Given the description of an element on the screen output the (x, y) to click on. 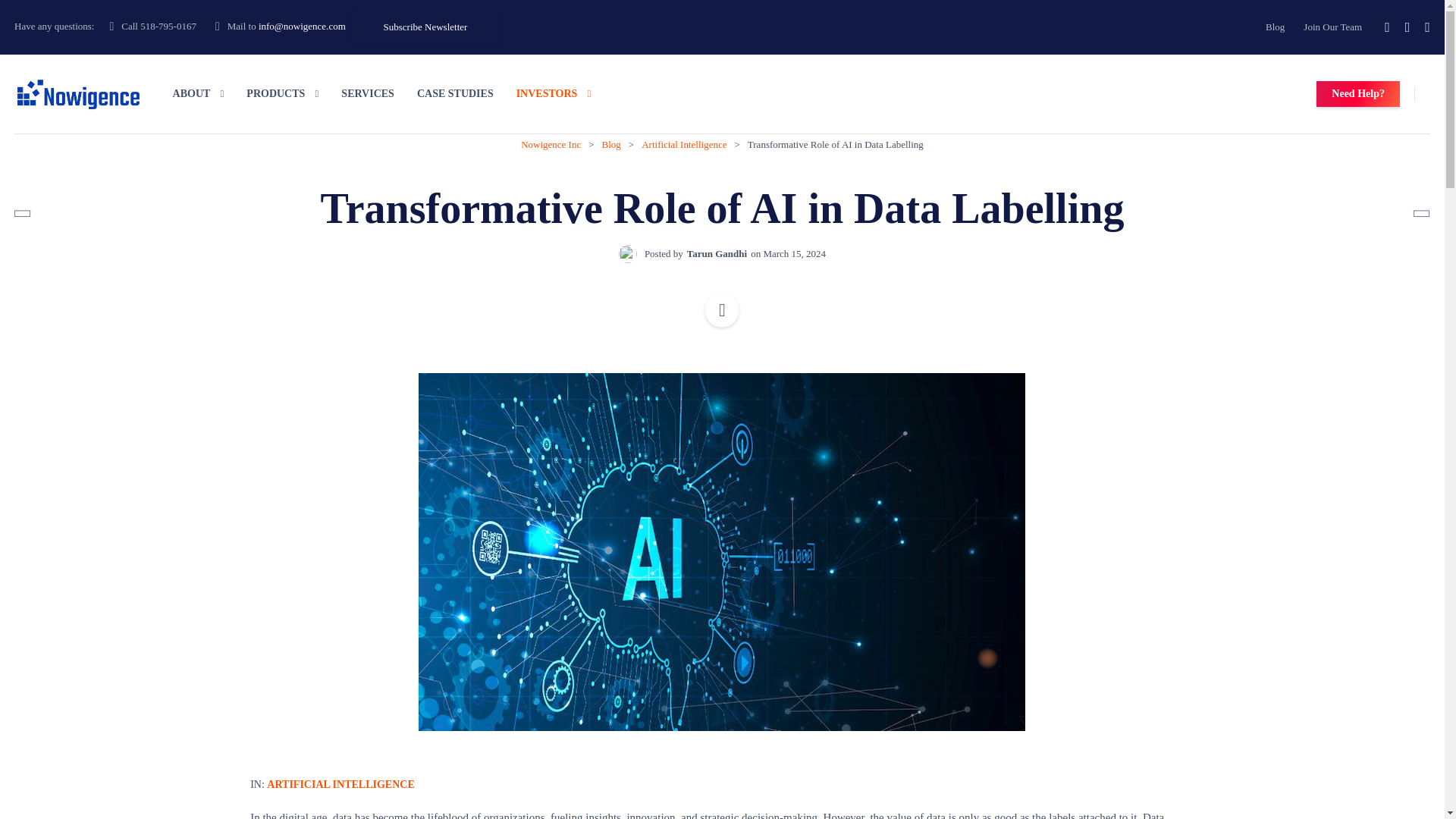
CASE STUDIES (454, 93)
Go to Blog. (611, 143)
Go to the Artificial Intelligence Category archives. (684, 143)
PRODUCTS (282, 93)
Go to Nowigence Inc. (550, 143)
Need Help? (1357, 94)
INVESTORS (553, 94)
Posts by Tarun Gandhi (716, 253)
Join Our Team (1332, 27)
Subscribe Newsletter (425, 27)
